Given the description of an element on the screen output the (x, y) to click on. 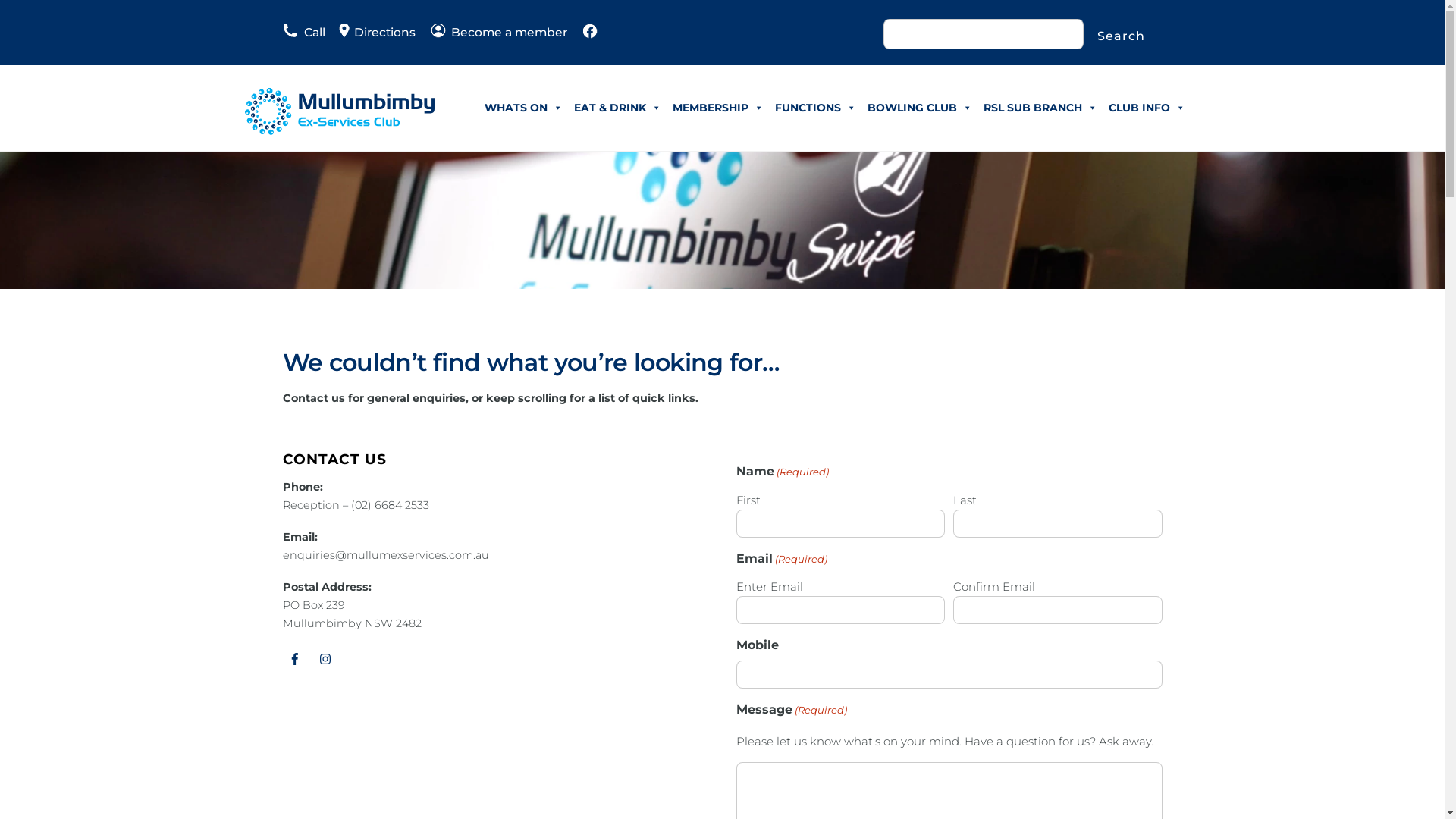
Directions Element type: text (369, 32)
WHATS ON Element type: text (523, 107)
club logo_dark blue & light blue Element type: hover (338, 110)
CLUB INFO Element type: text (1146, 107)
Mullumbimby Ex-Services Club Element type: hover (338, 127)
EAT & DRINK Element type: text (617, 107)
Facebook Element type: text (294, 658)
Instagram Element type: text (325, 658)
MEMBERSHIP Element type: text (717, 107)
BOWLING CLUB Element type: text (918, 107)
Become a member Element type: text (498, 32)
Search Element type: text (1120, 35)
RSL SUB BRANCH Element type: text (1040, 107)
FUNCTIONS Element type: text (814, 107)
Call Element type: text (303, 32)
